Given the description of an element on the screen output the (x, y) to click on. 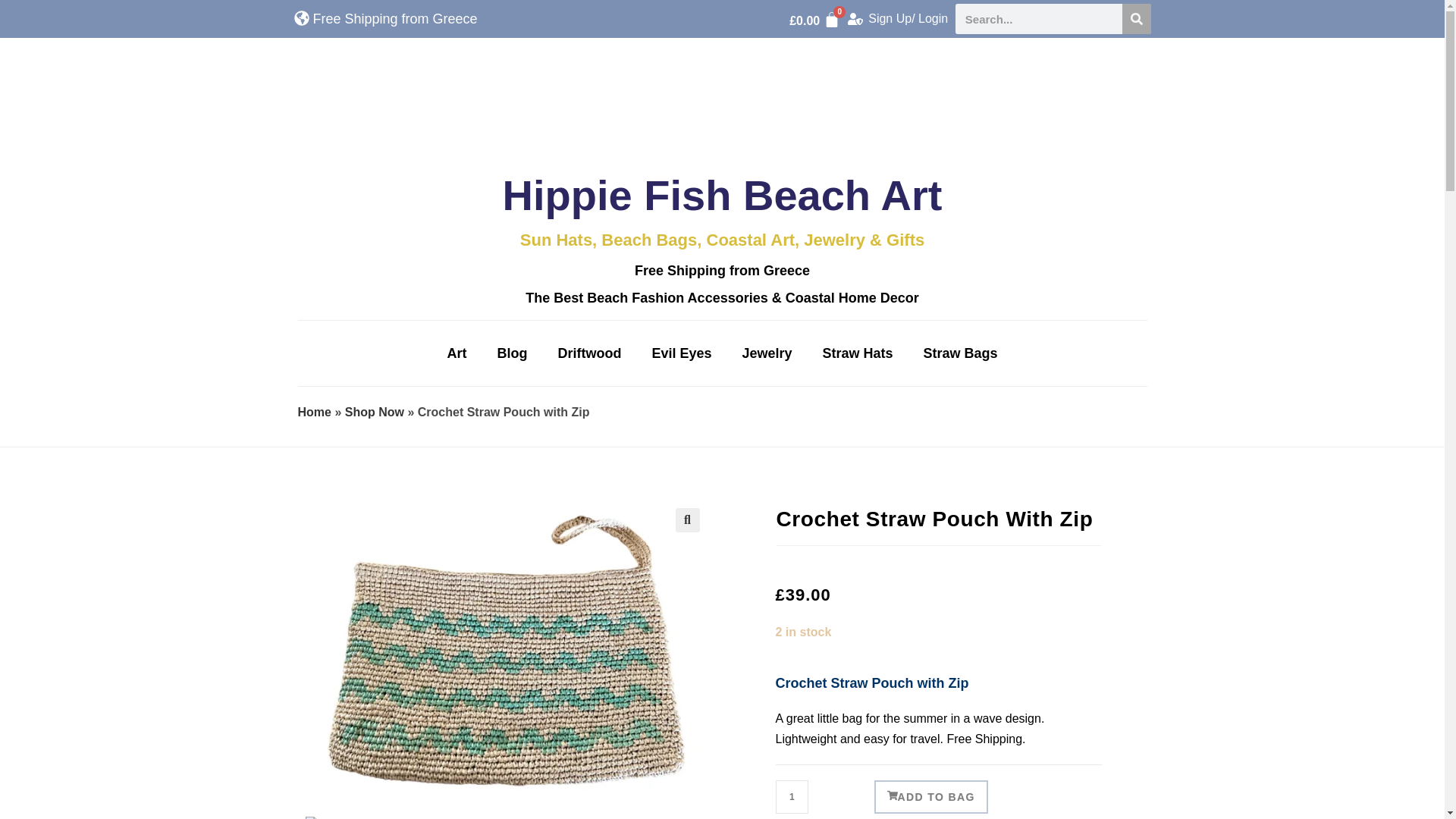
Art (455, 353)
ADD TO BAG (930, 797)
Evil Eyes (681, 353)
Shop Now (374, 411)
Straw Bags (960, 353)
Jewelry (766, 353)
Driftwood (588, 353)
Crochet Straw Pouch with Zipi (505, 651)
Home (313, 411)
11729 (1095, 24)
